Given the description of an element on the screen output the (x, y) to click on. 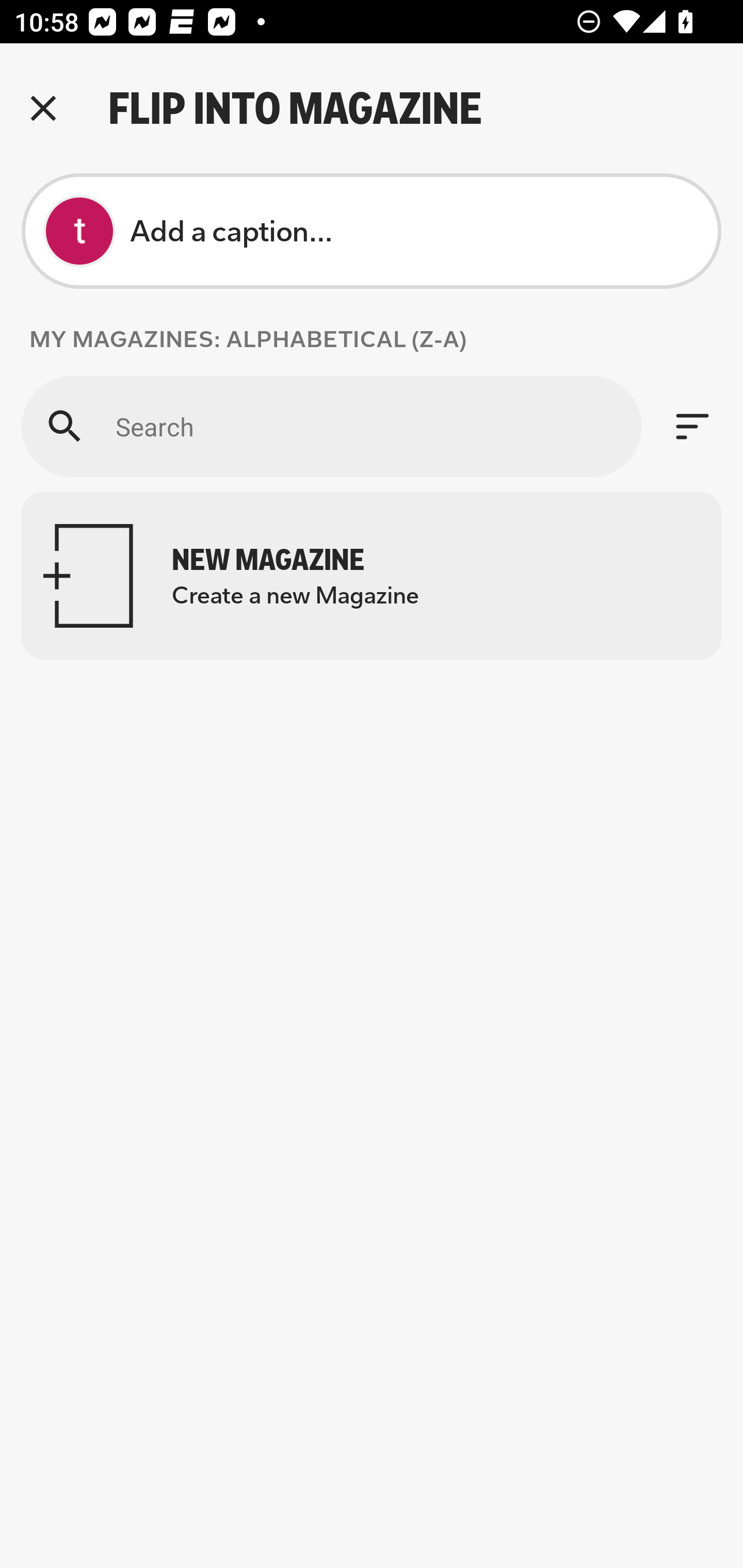
test appium Add a caption… (371, 231)
Search (331, 426)
NEW MAGAZINE Create a new Magazine (371, 575)
